Given the description of an element on the screen output the (x, y) to click on. 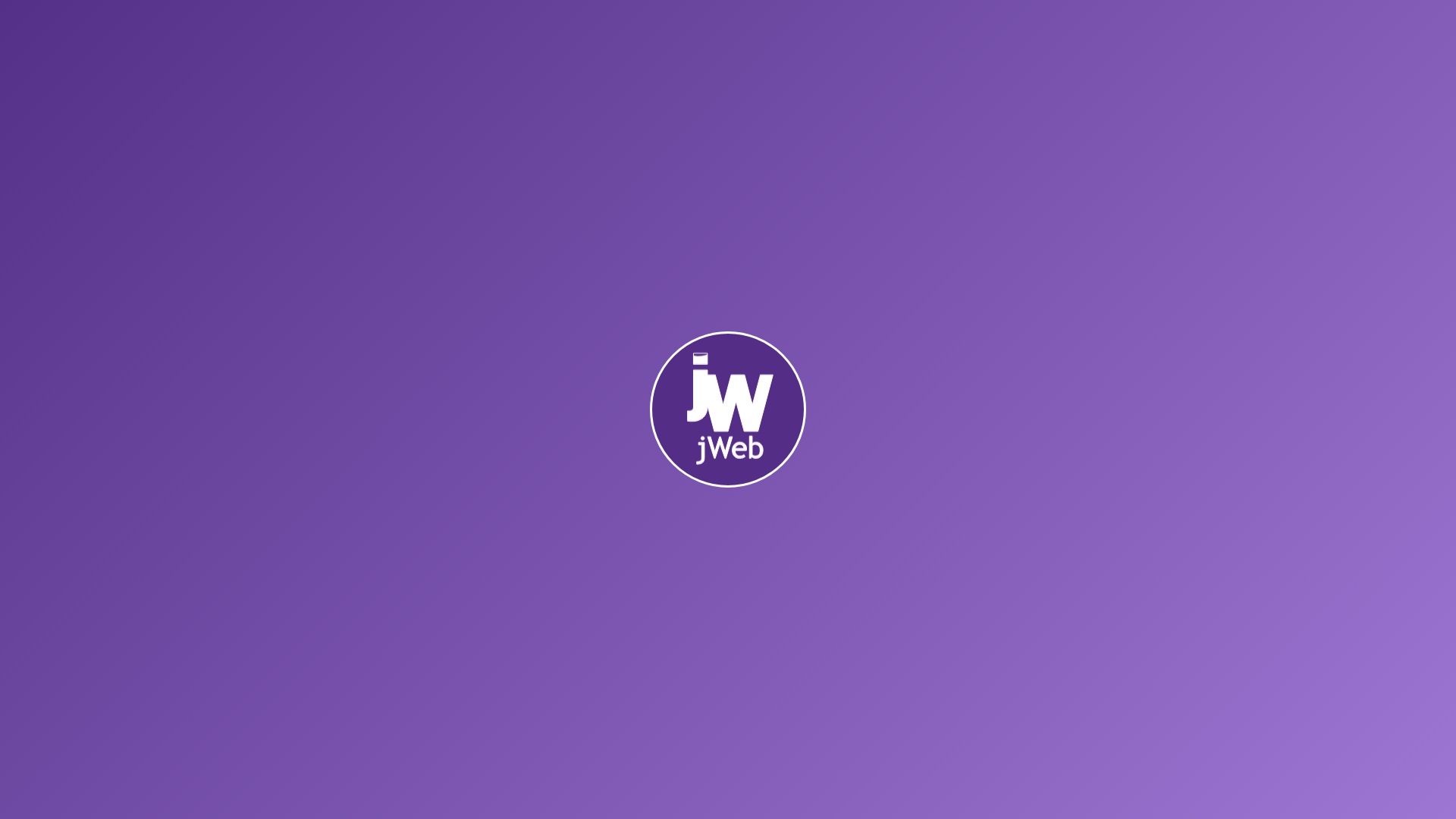
Home (194, 495)
Search (51, 18)
Blog (235, 495)
